Given the description of an element on the screen output the (x, y) to click on. 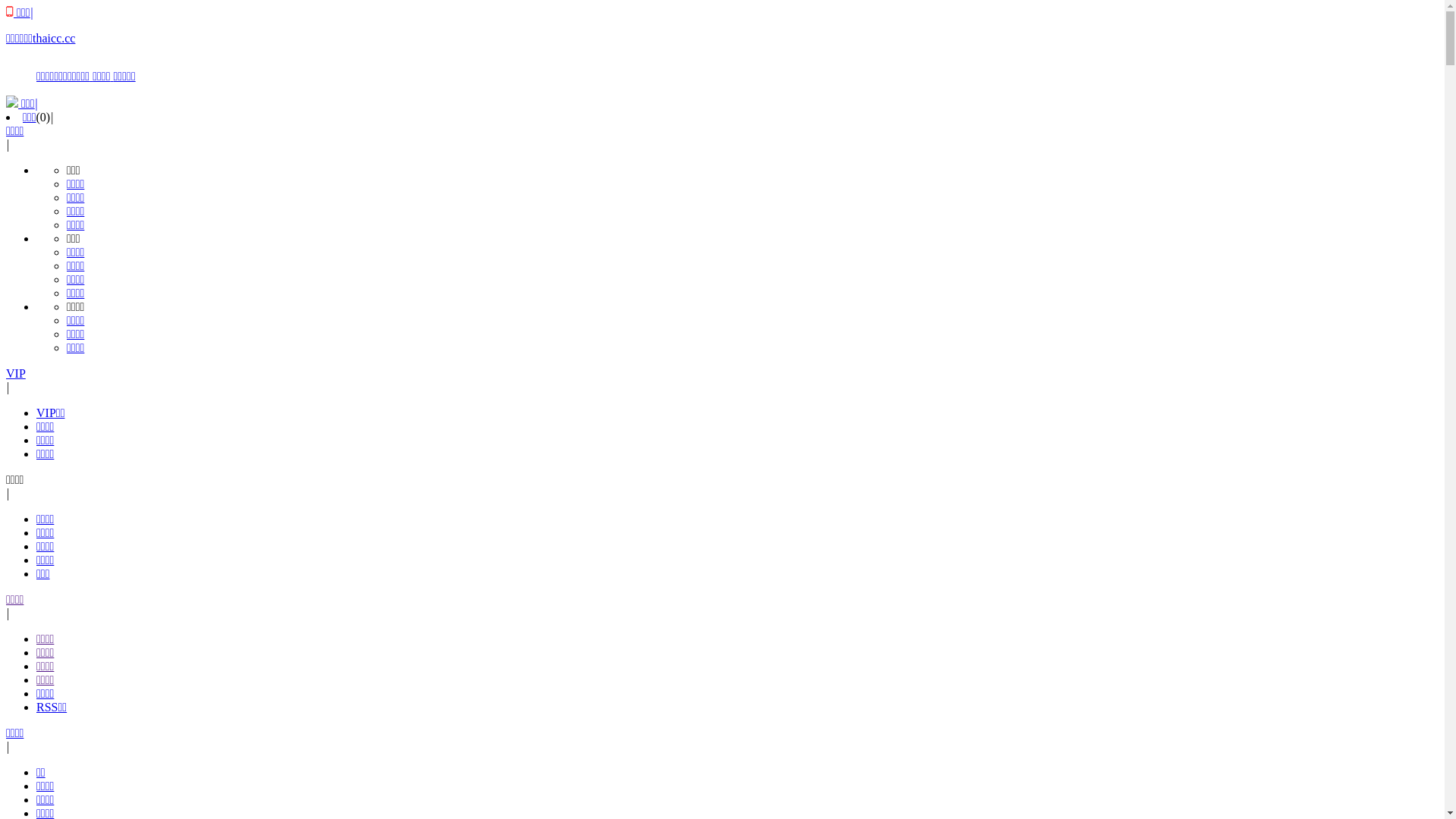
VIP Element type: text (15, 373)
